Given the description of an element on the screen output the (x, y) to click on. 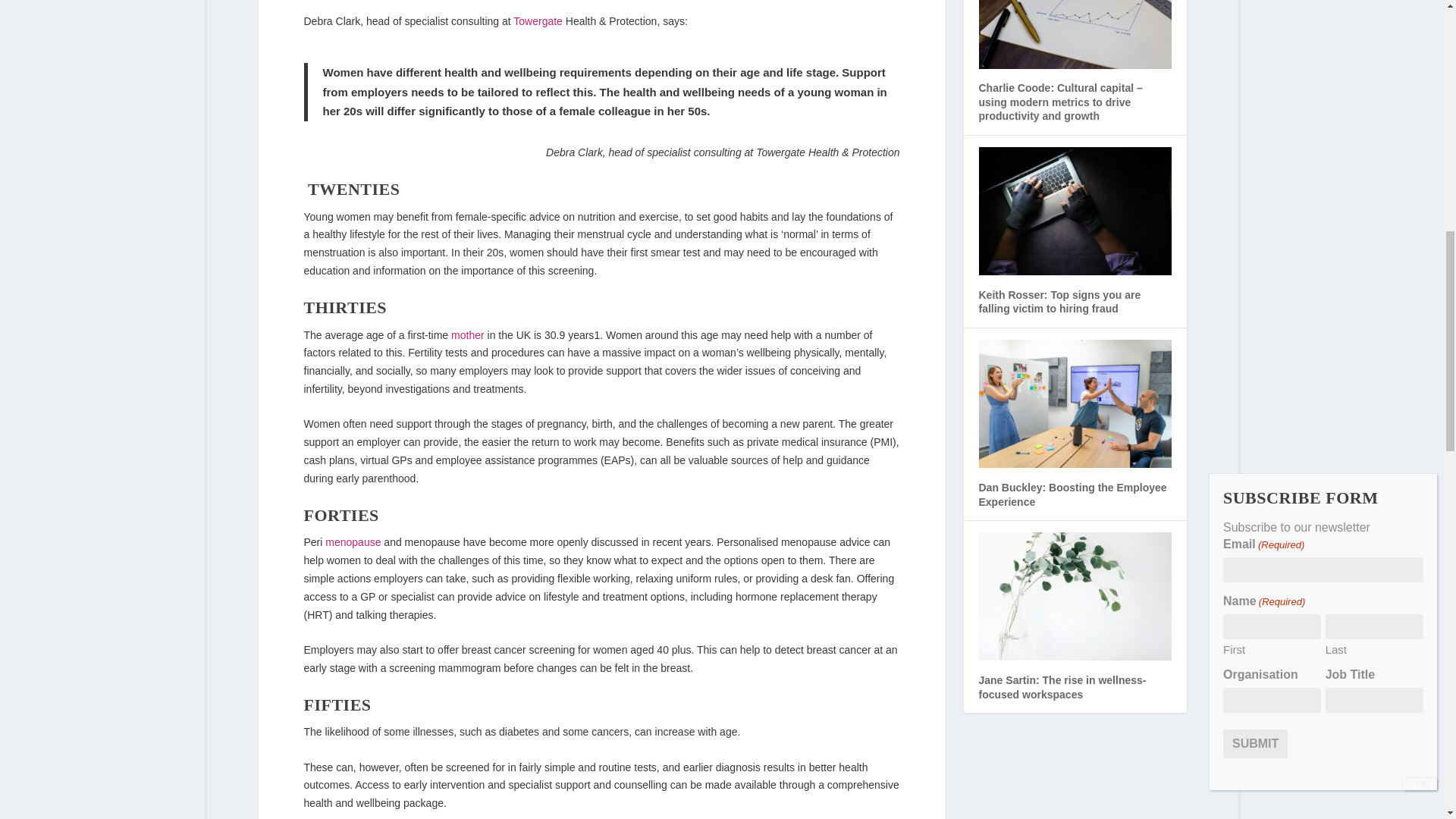
Menopause and the Workplace: The Ultimate Guide for Managers (352, 541)
